Given the description of an element on the screen output the (x, y) to click on. 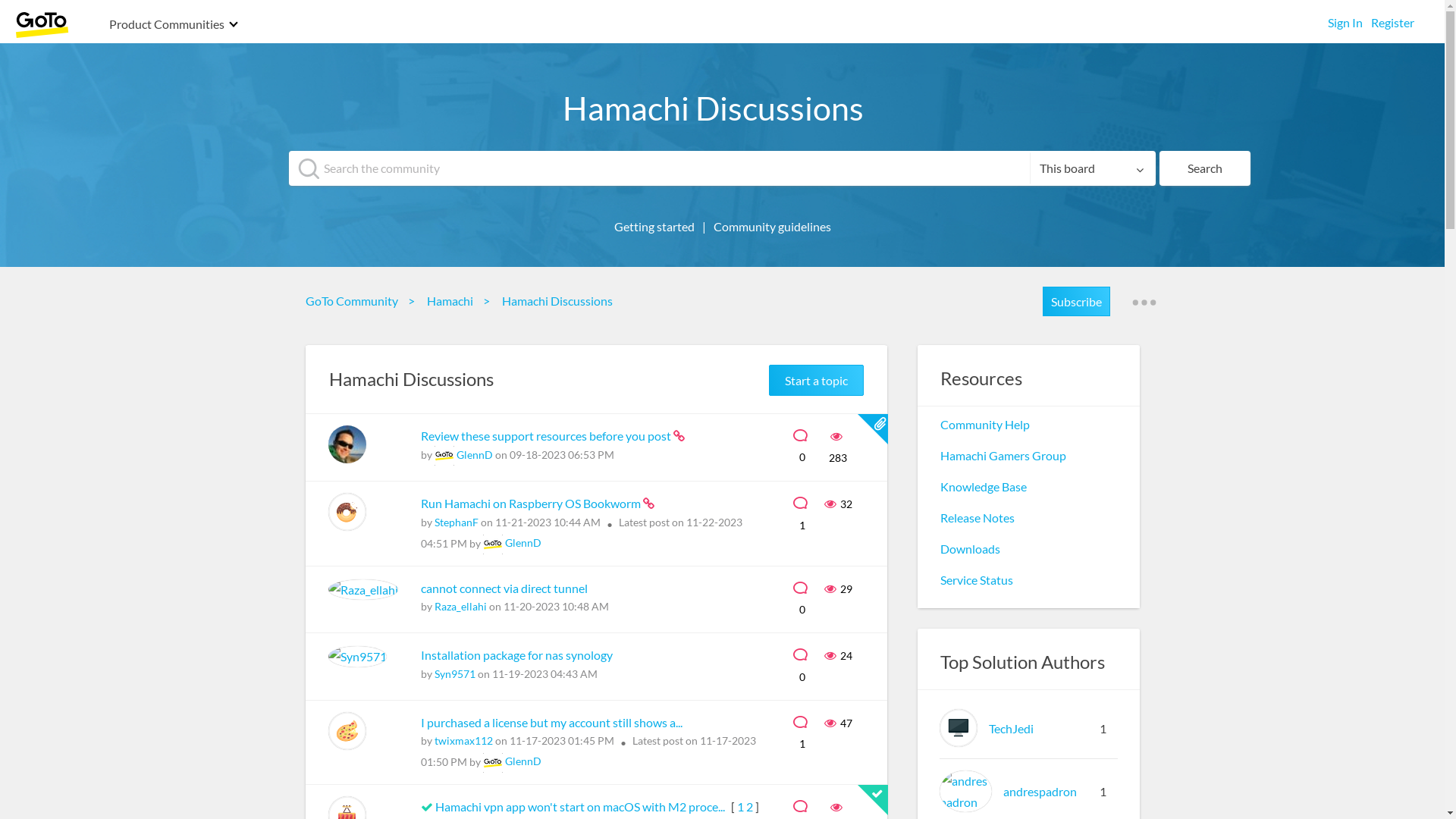
Product Communities Element type: text (166, 24)
GlennD Element type: text (523, 542)
TechJedi Element type: text (1010, 728)
GoTo Community Home Element type: hover (42, 25)
Review these support resources before you post Element type: text (546, 435)
Contains a hyperlink Element type: hover (648, 503)
Release Notes Element type: text (977, 517)
Raza_ellahi Element type: text (459, 605)
Search Element type: text (1204, 167)
cannot connect via direct tunnel Element type: text (503, 587)
GoTo Manager Element type: hover (492, 762)
GlennD Element type: text (474, 454)
twixmax112 Element type: hover (346, 730)
Sign In Element type: text (1344, 18)
Search the community Element type: hover (721, 167)
andrespadron Element type: hover (965, 791)
Register Element type: text (1392, 18)
Community guidelines Element type: text (772, 226)
StephanF Element type: text (455, 521)
GoTo Manager Element type: hover (492, 544)
GlennD Element type: text (523, 760)
GlennD Element type: hover (346, 444)
Syn9571 Element type: text (453, 673)
StephanF Element type: hover (346, 511)
Start a topic Element type: text (815, 379)
Service Status Element type: text (976, 579)
GoTo Community Home Element type: hover (42, 23)
TechJedi Element type: hover (958, 727)
twixmax112 Element type: text (462, 740)
GoTo Manager Element type: hover (443, 455)
Raza_ellahi Element type: hover (362, 589)
Downloads Element type: text (970, 548)
2 Element type: text (749, 806)
Syn9571 Element type: hover (356, 656)
andrespadron Element type: text (1039, 791)
1 Element type: text (740, 806)
Hamachi vpn app won't start on macOS with M2 proce... Element type: text (581, 806)
Hamachi Gamers Group Element type: text (1003, 455)
Solved! Element type: hover (426, 806)
GoTo Community Element type: text (354, 300)
I purchased a license but my account still shows a... Element type: text (550, 721)
Community Help Element type: text (984, 424)
Knowledge Base Element type: text (983, 486)
Options Element type: text (1143, 302)
Contains a hyperlink Element type: hover (678, 435)
Installation package for nas synology Element type: text (515, 654)
Getting started Element type: text (653, 226)
Run Hamachi on Raspberry OS Bookworm Element type: text (531, 502)
Hamachi Element type: text (453, 300)
